Given the description of an element on the screen output the (x, y) to click on. 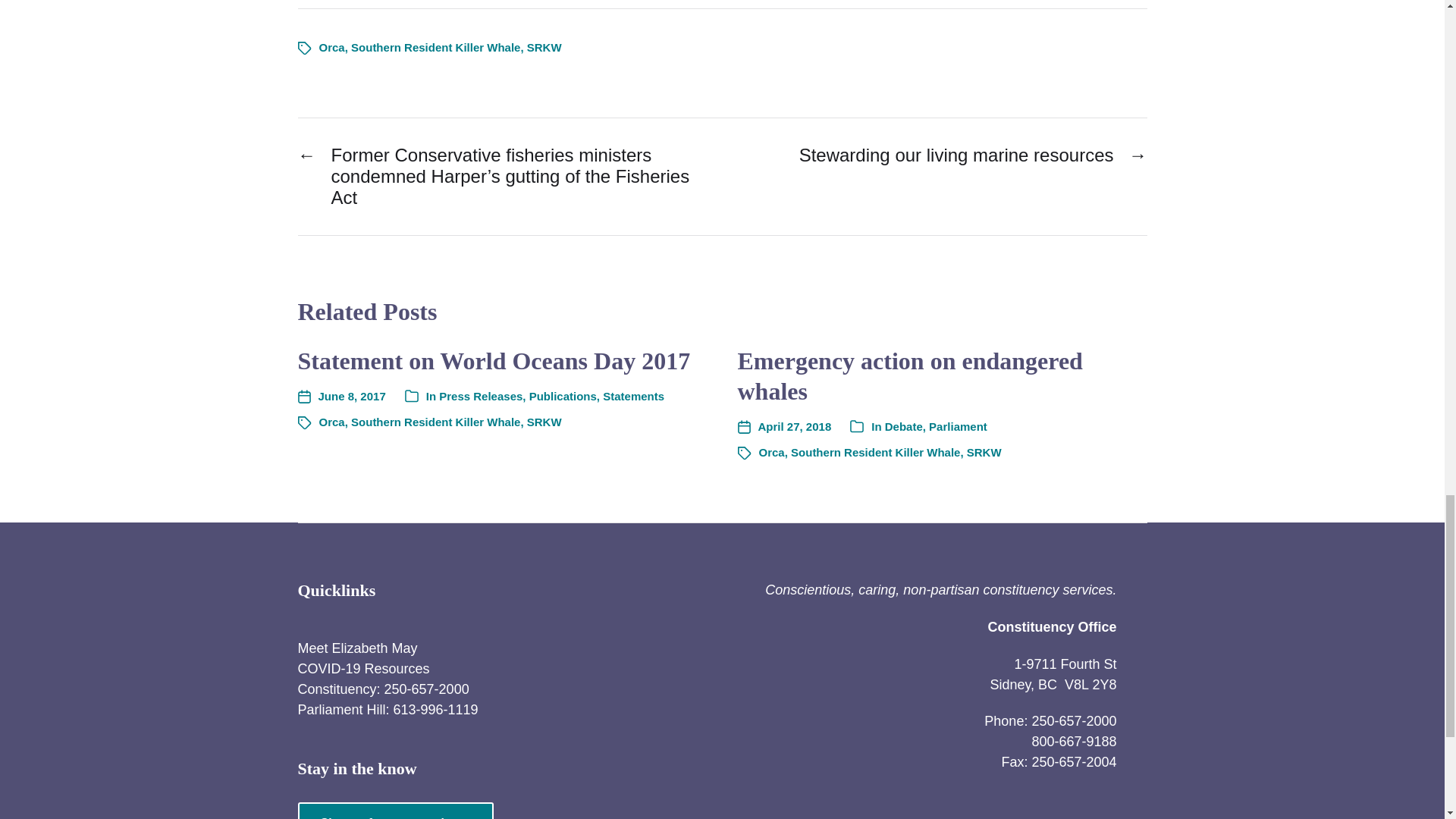
newsletter sign up link (395, 810)
